Given the description of an element on the screen output the (x, y) to click on. 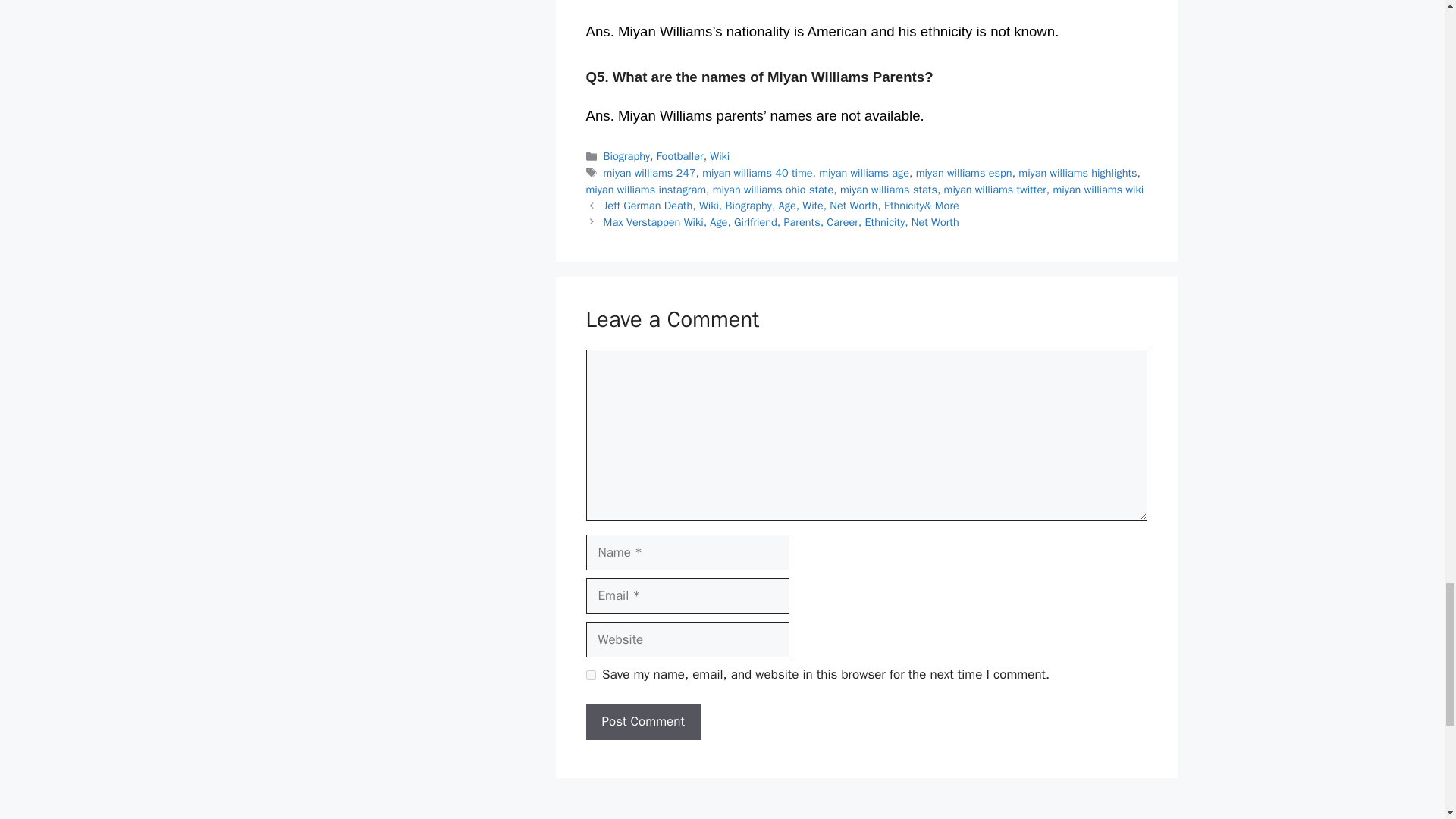
miyan williams age (863, 172)
miyan williams 40 time (756, 172)
Footballer (679, 155)
Post Comment (642, 721)
miyan williams stats (888, 189)
miyan williams highlights (1077, 172)
Wiki (719, 155)
Biography (626, 155)
yes (590, 675)
miyan williams espn (963, 172)
